Given the description of an element on the screen output the (x, y) to click on. 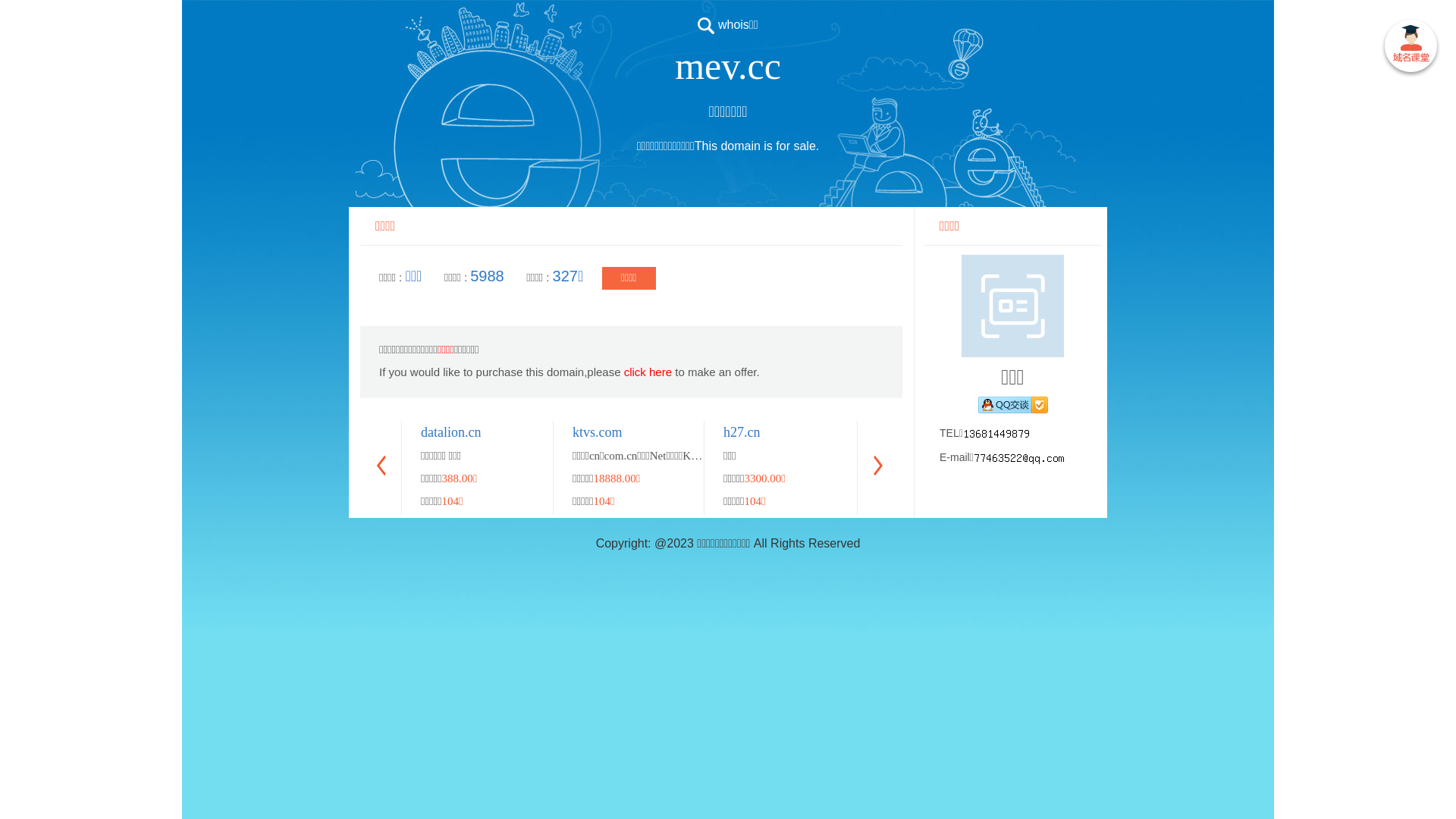
ktvs.com Element type: text (597, 431)
gandehao.cn Element type: text (908, 431)
h27.cn Element type: text (741, 431)
  Element type: text (1410, 48)
jij.com.cn Element type: text (1052, 431)
click here Element type: text (647, 371)
rpfz.com Element type: text (1200, 431)
datalion.cn Element type: text (450, 431)
hbyr.cn Element type: text (1347, 431)
